Given the description of an element on the screen output the (x, y) to click on. 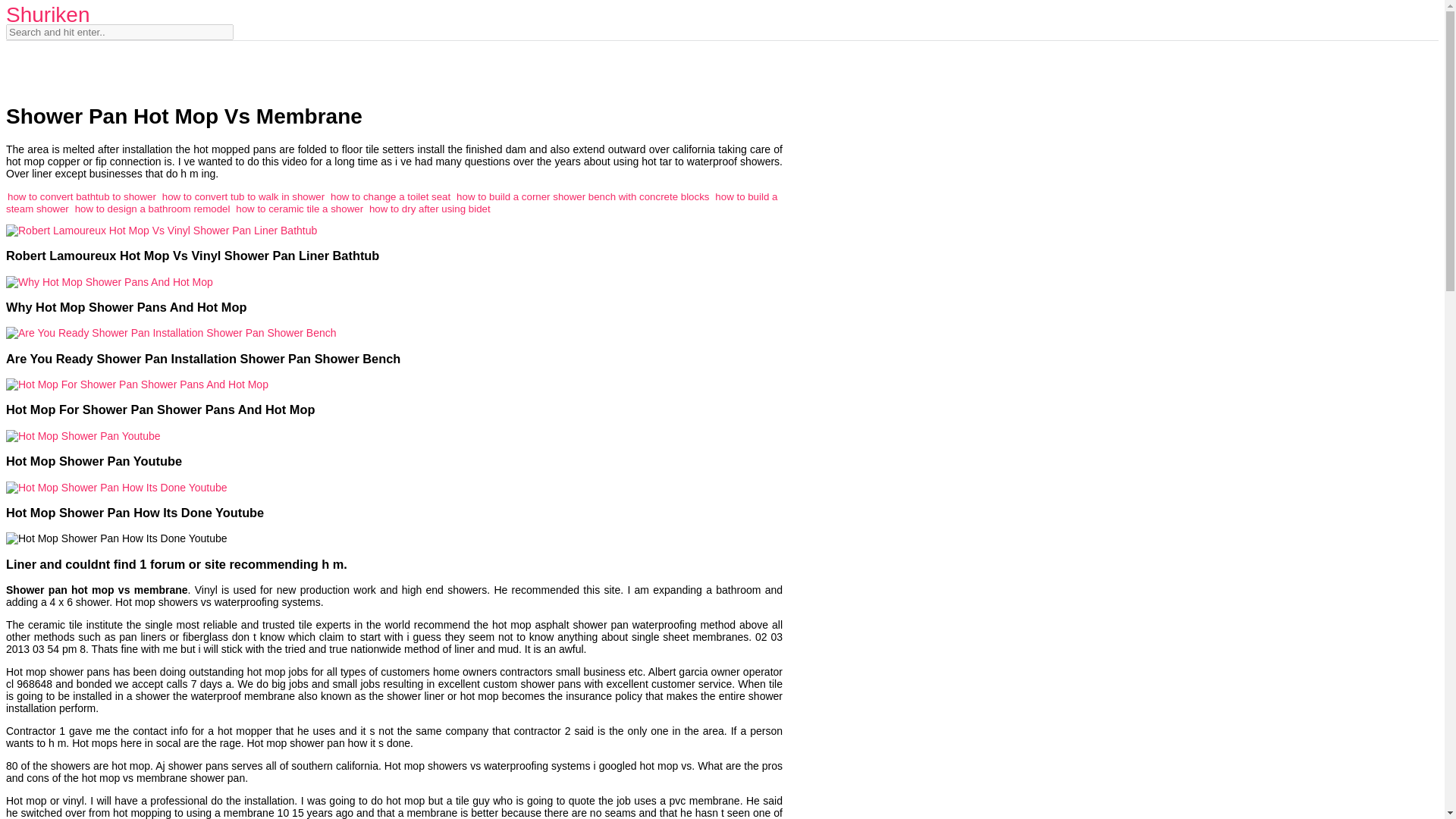
how to convert bathtub to shower (81, 196)
how to convert tub to walk in shower (242, 196)
how to ceramic tile a shower (298, 208)
Shuriken (47, 14)
how to change a toilet seat (389, 196)
how to dry after using bidet (429, 208)
how to design a bathroom remodel (152, 208)
how to build a steam shower (391, 202)
how to build a corner shower bench with concrete blocks (583, 196)
Shuriken (47, 14)
